Given the description of an element on the screen output the (x, y) to click on. 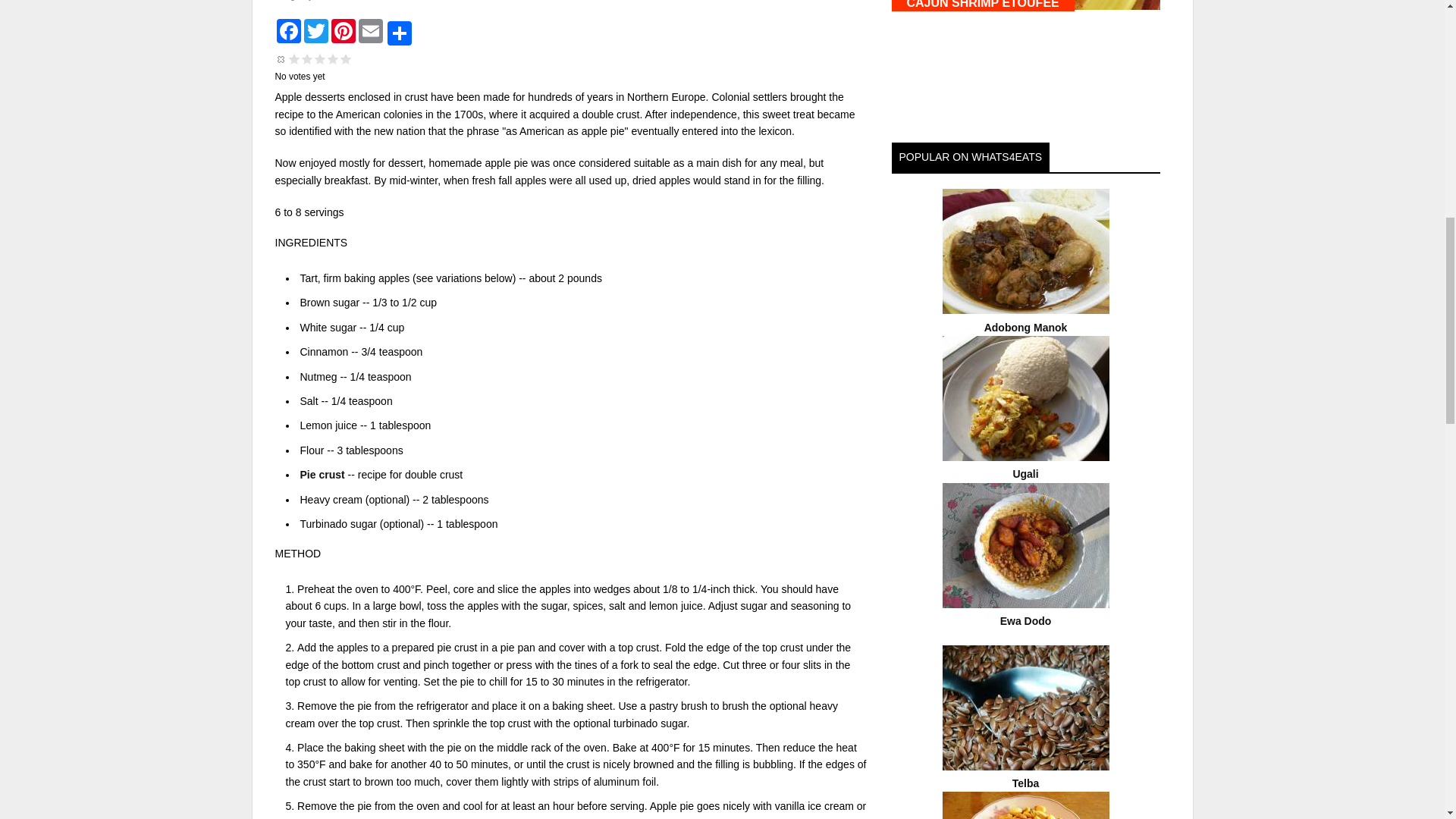
Email (370, 30)
Facebook (288, 30)
Pinterest (342, 30)
Pie crust (322, 474)
Twitter (315, 30)
Share (398, 31)
Cancel rating (280, 58)
Cancel rating (280, 58)
Get the pie crust recipe (322, 474)
